Given the description of an element on the screen output the (x, y) to click on. 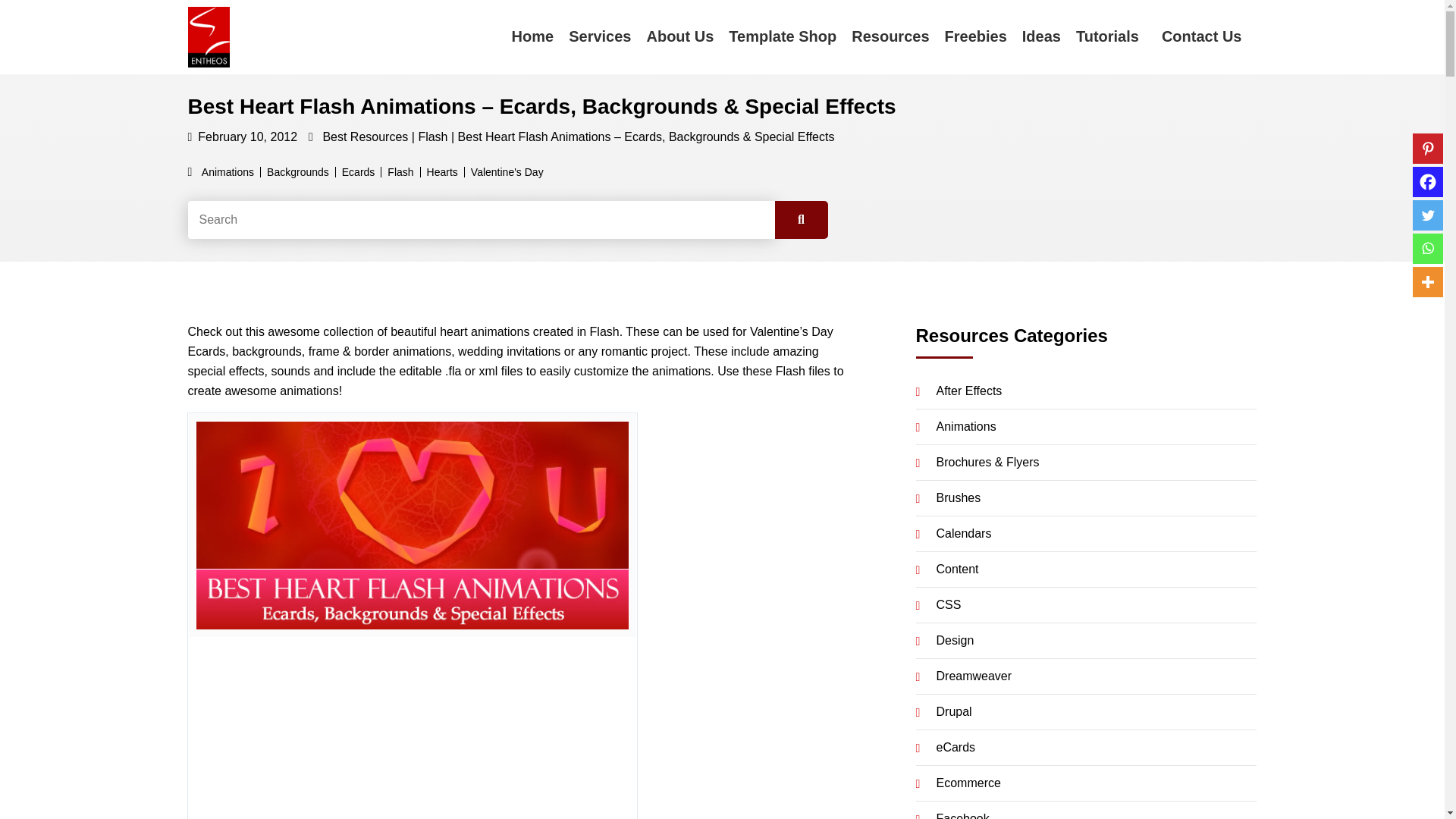
Backgrounds (298, 172)
Valentine'S Day (507, 172)
Flash (400, 172)
Contact Us (1202, 36)
Best Resources (364, 136)
Advertisement (412, 730)
Flash (431, 136)
Animations (227, 172)
Freebies (975, 36)
Best Resources (364, 136)
Ecards (358, 172)
Flash (431, 136)
About Us (679, 36)
Template Shop (782, 36)
Services (599, 36)
